Given the description of an element on the screen output the (x, y) to click on. 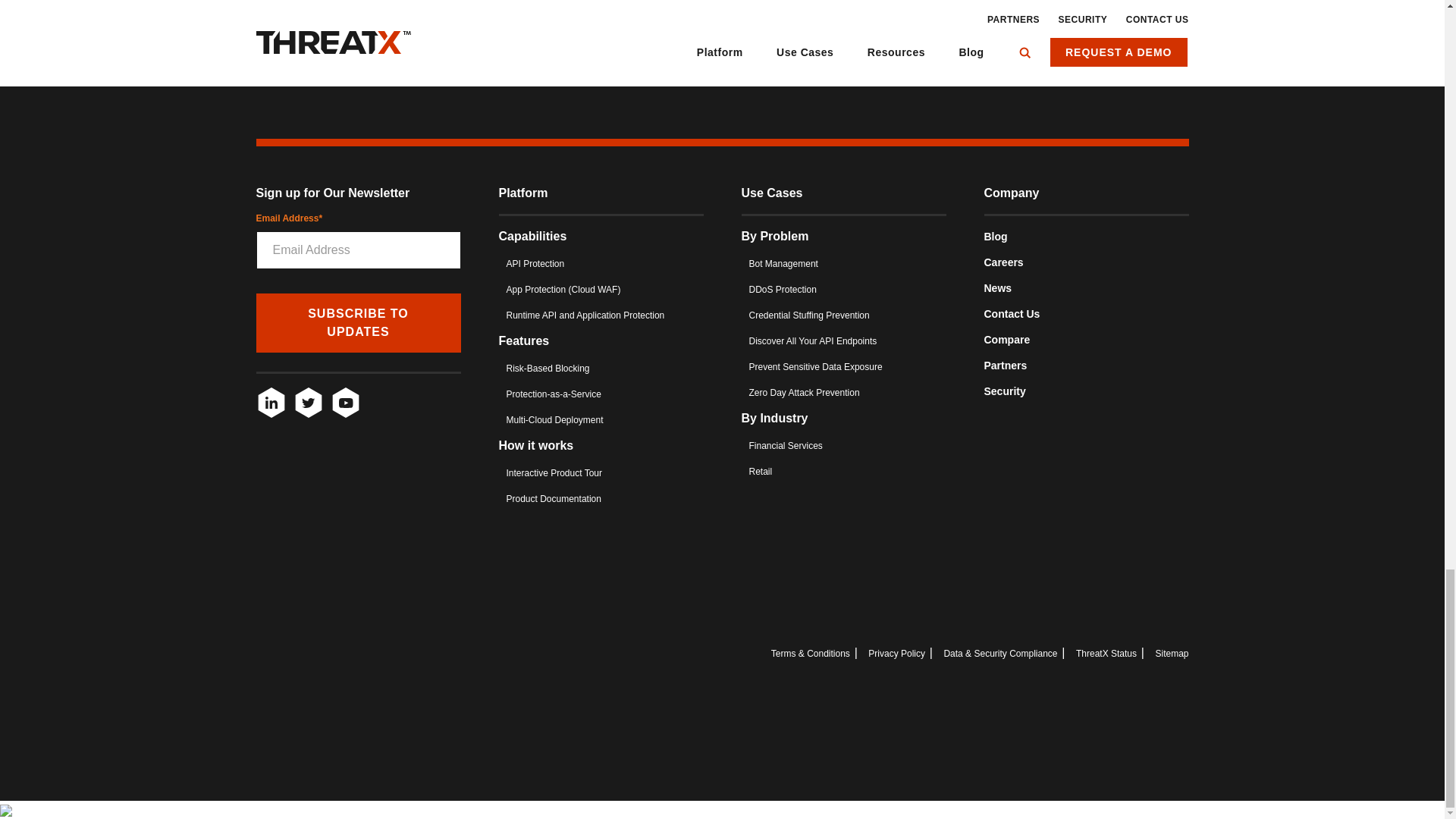
Subscribe to Updates (358, 322)
